Given the description of an element on the screen output the (x, y) to click on. 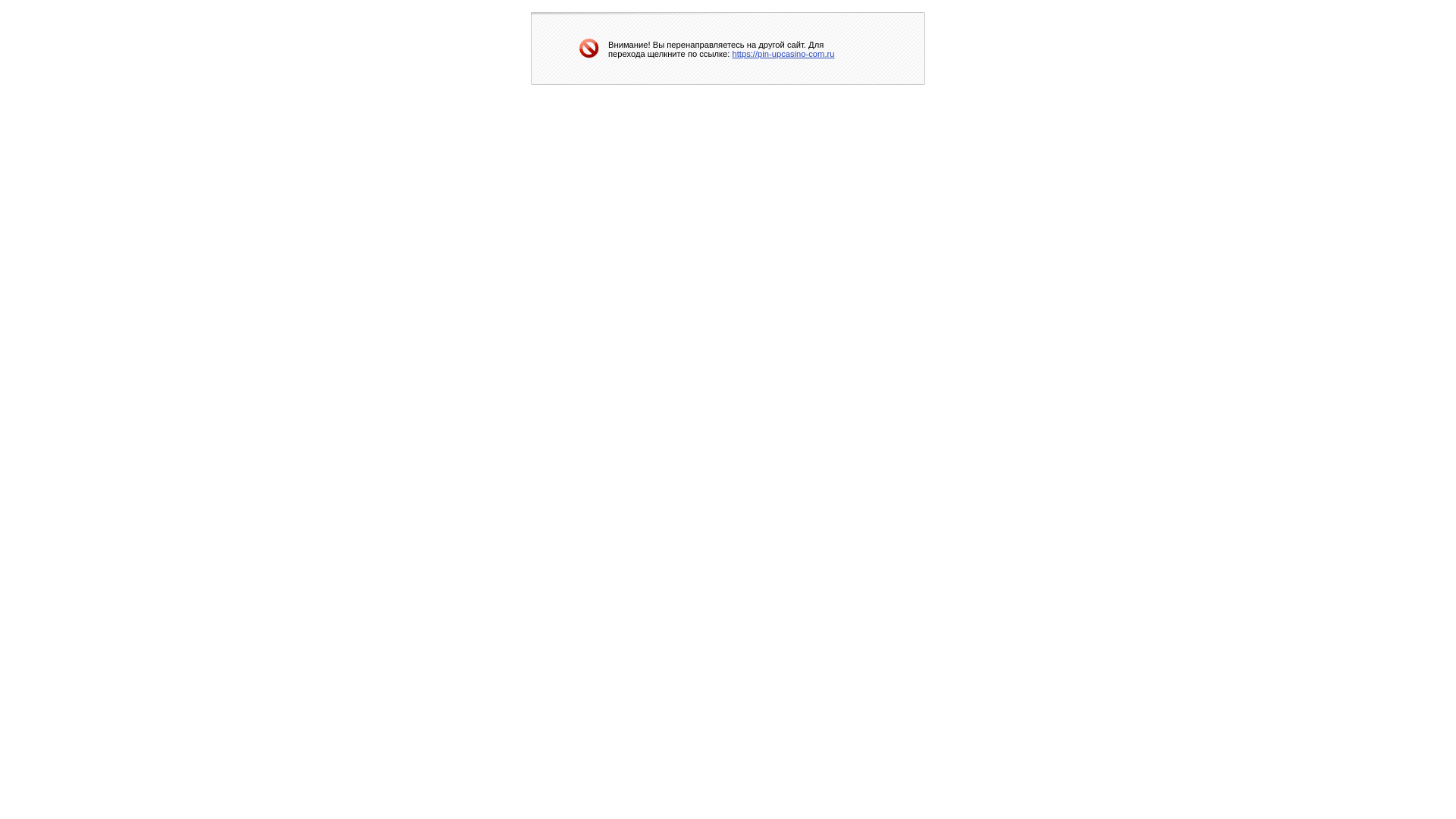
https://pin-upcasino-com.ru Element type: text (783, 52)
